Given the description of an element on the screen output the (x, y) to click on. 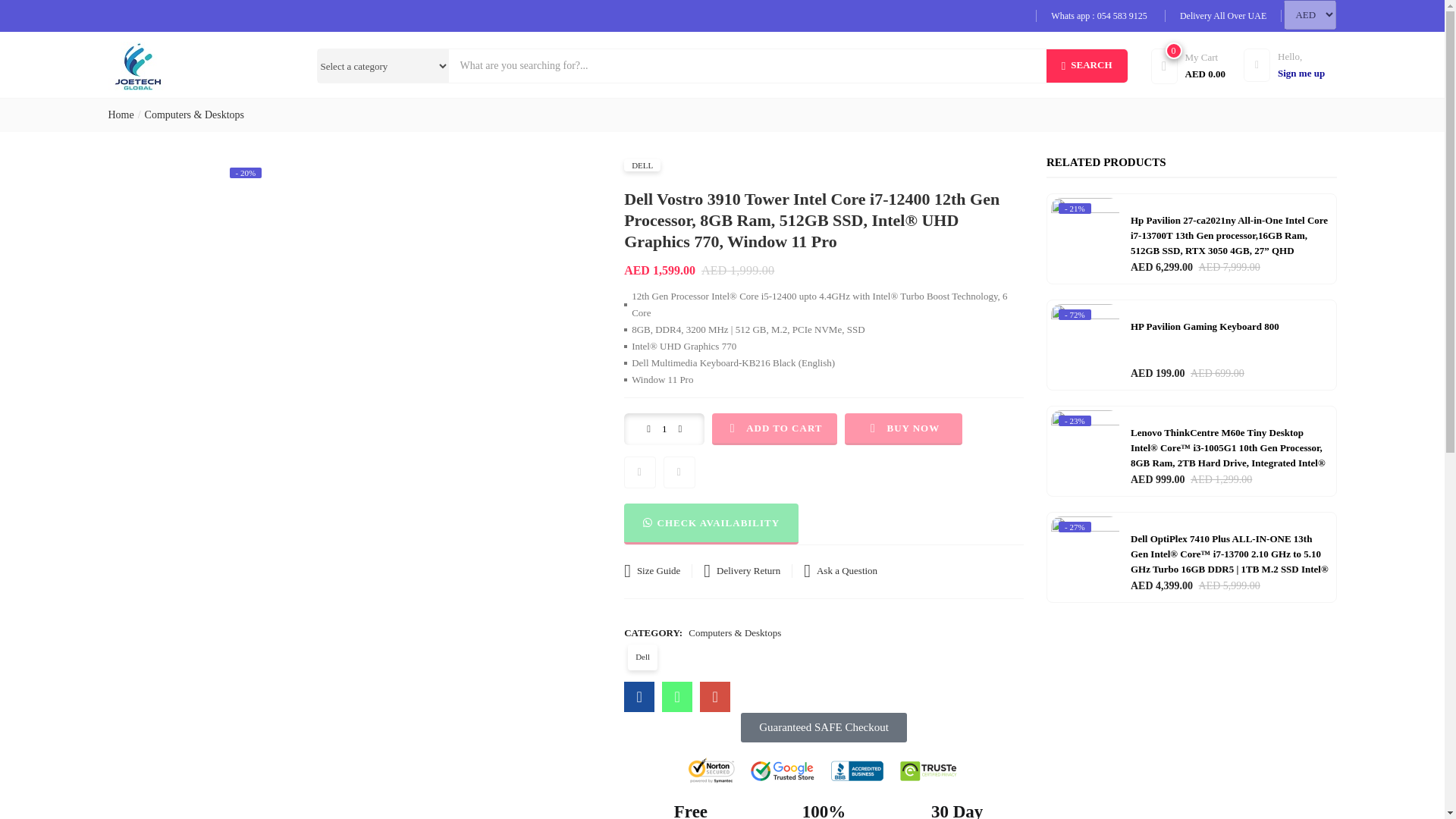
View your shopping cart (1195, 64)
SEARCH (1086, 65)
Delivery All Over UAE (1222, 15)
Sign me up (1289, 64)
Whats app : 054 583 9125 (1289, 64)
